Given the description of an element on the screen output the (x, y) to click on. 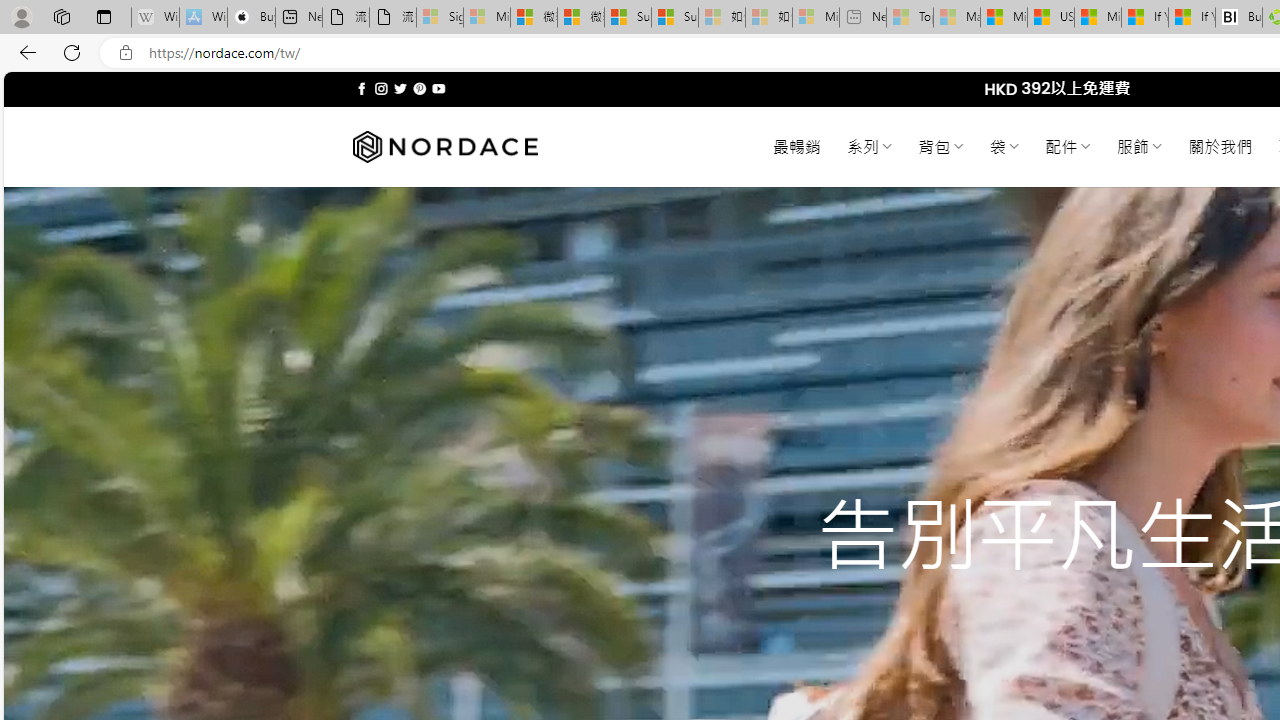
Buy iPad - Apple (251, 17)
Follow on Twitter (400, 88)
Follow on Pinterest (419, 88)
Sign in to your Microsoft account - Sleeping (440, 17)
Microsoft Services Agreement - Sleeping (486, 17)
Follow on Facebook (361, 88)
